Given the description of an element on the screen output the (x, y) to click on. 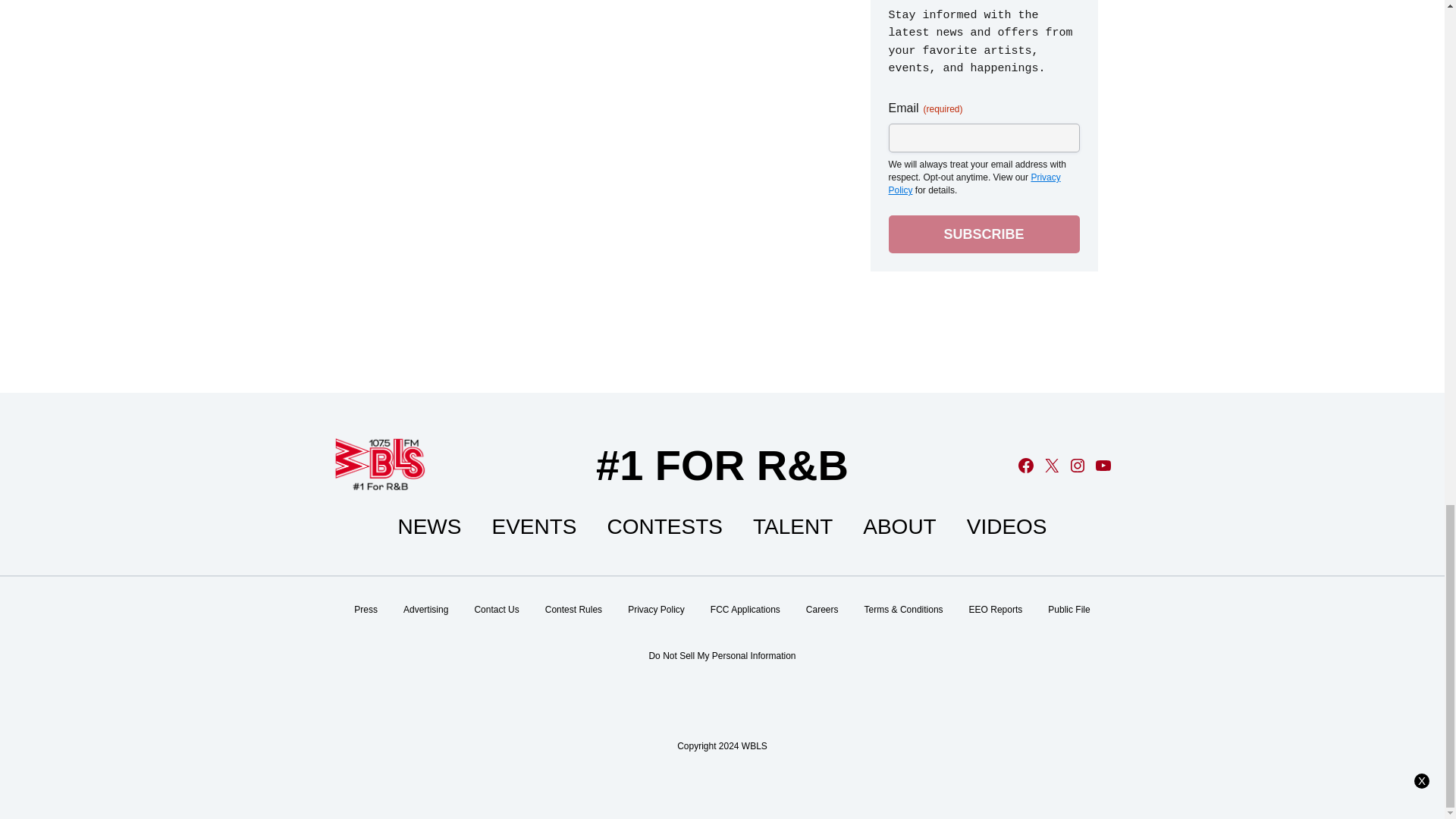
Subscribe (984, 234)
Subscribe (984, 234)
Privacy Policy (974, 183)
